Given the description of an element on the screen output the (x, y) to click on. 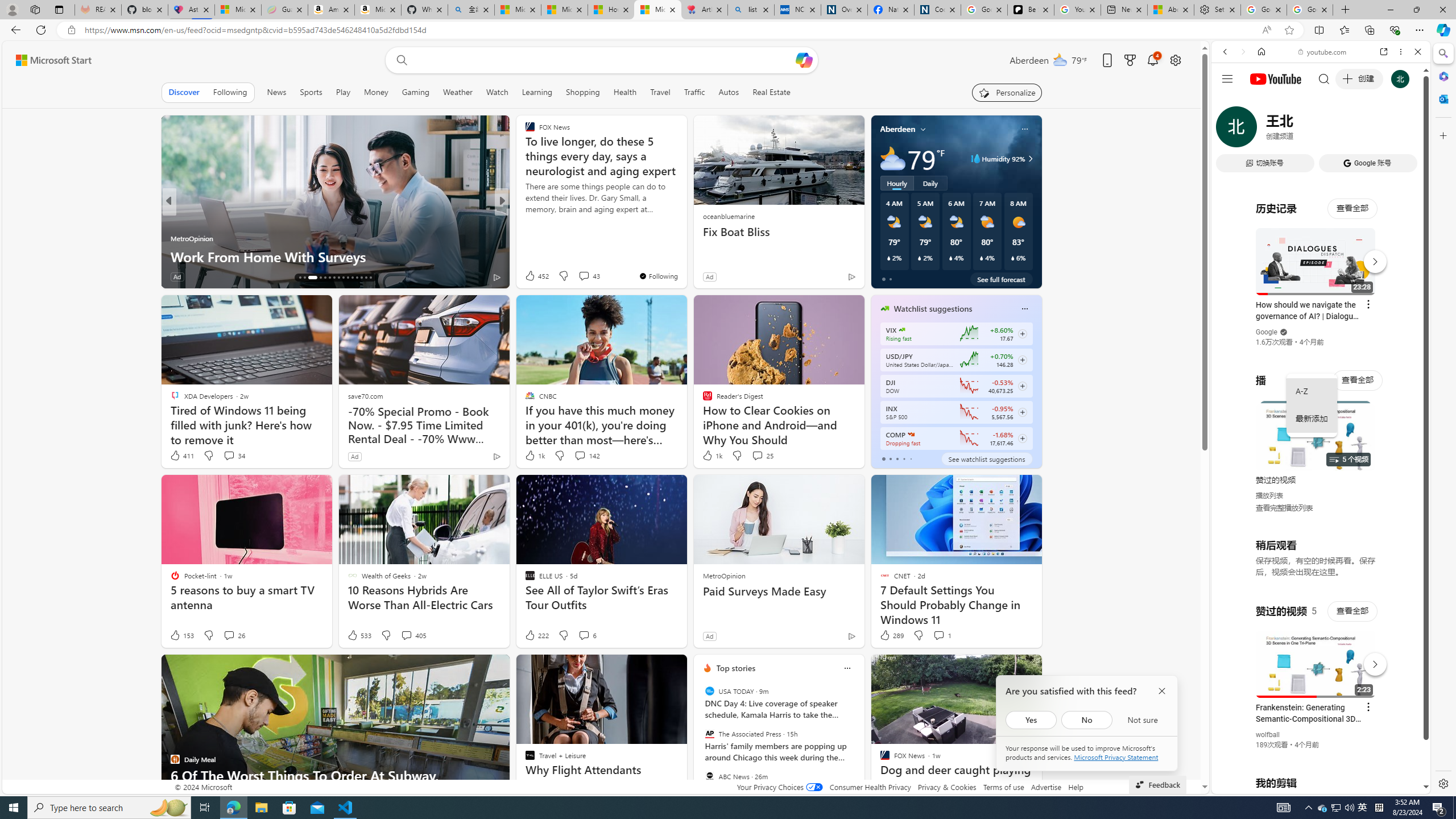
tab-0 (882, 458)
Help (1075, 786)
Web search (398, 60)
You're following FOX News (657, 275)
AutomationID: tab-19 (317, 277)
View comments 4 Comment (580, 276)
Home (1261, 51)
View comments 197 Comment (580, 276)
View comments 6 Comment (587, 634)
Gaming (415, 92)
